Given the description of an element on the screen output the (x, y) to click on. 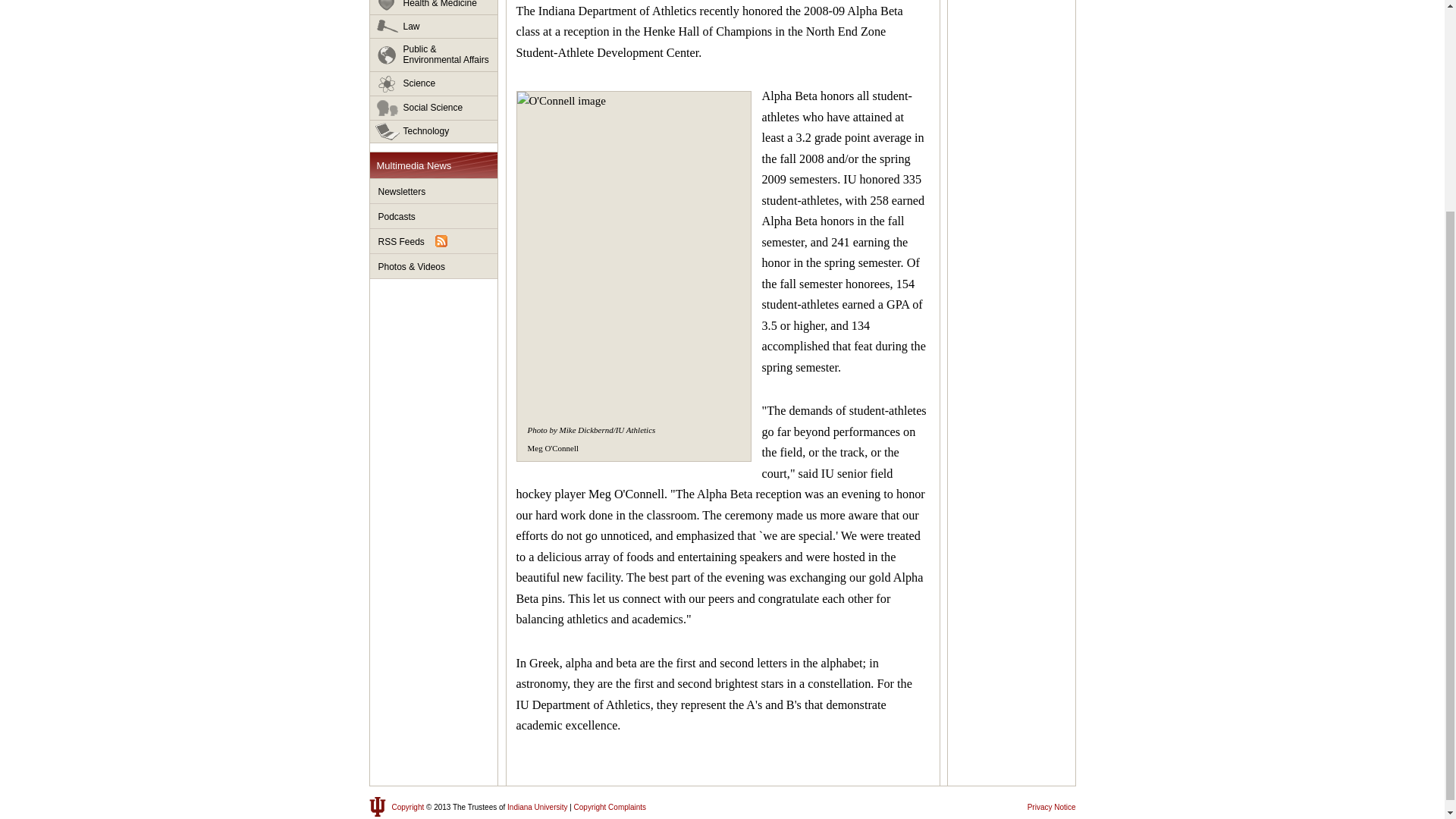
Law (433, 26)
RSS Feeds (433, 241)
Social Science (433, 108)
Technology (433, 131)
Science (433, 84)
Podcasts (433, 216)
Newsletters (433, 191)
